Given the description of an element on the screen output the (x, y) to click on. 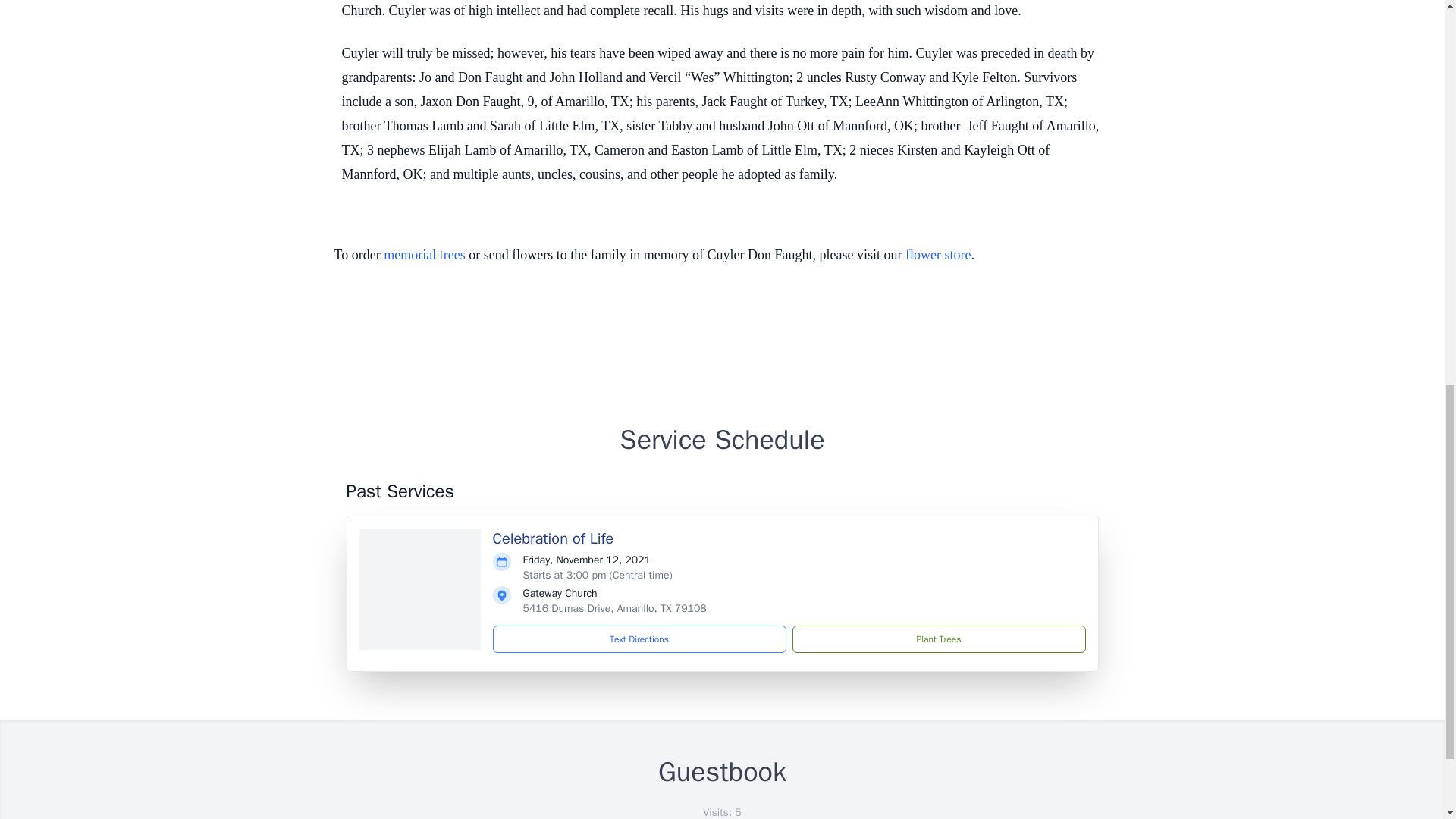
5416 Dumas Drive, Amarillo, TX 79108 (614, 608)
memorial trees (424, 254)
flower store (938, 254)
Plant Trees (938, 638)
Text Directions (639, 638)
